Given the description of an element on the screen output the (x, y) to click on. 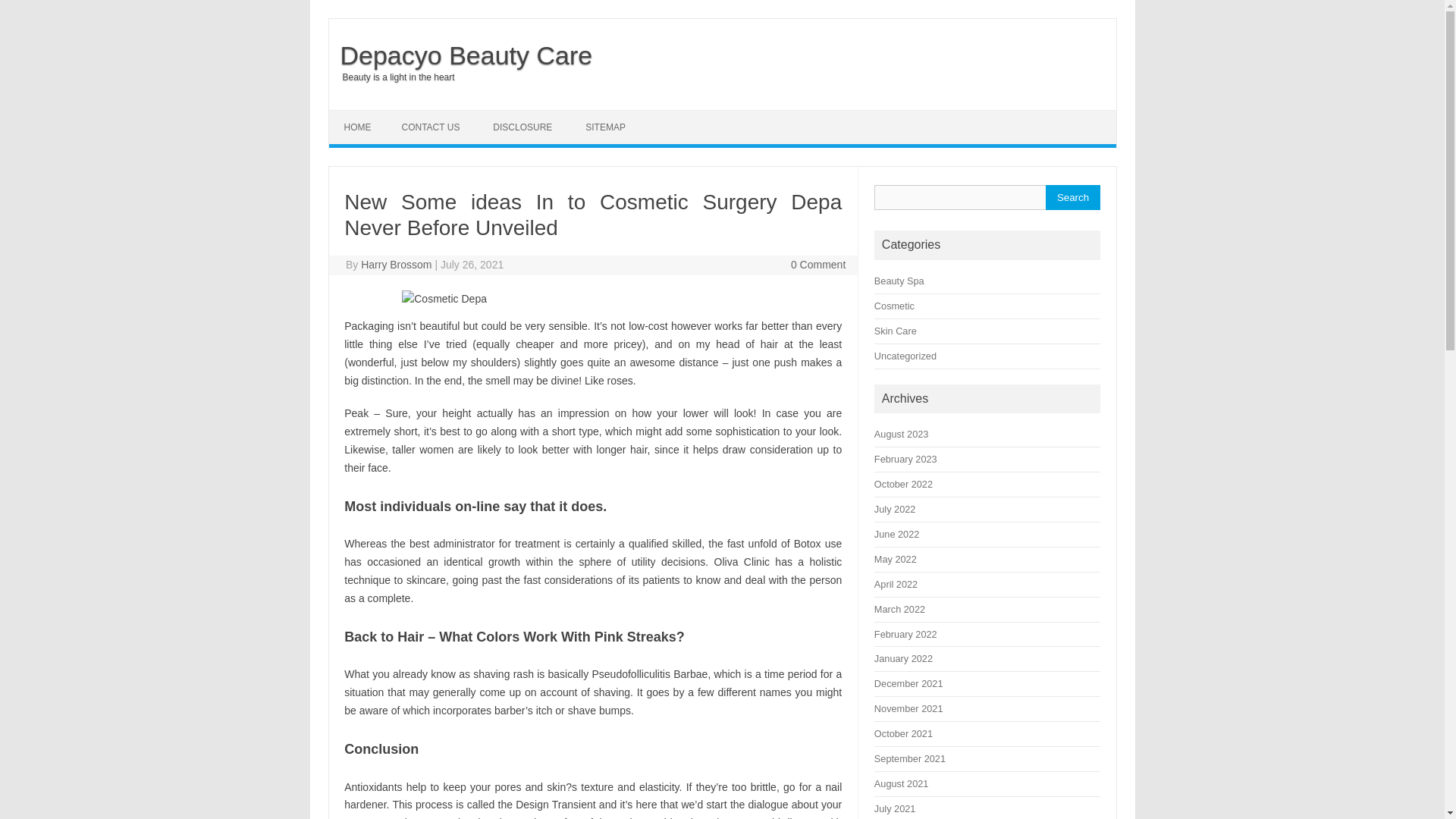
0 Comment (817, 264)
SITEMAP (605, 127)
Depacyo Beauty Care (460, 54)
August 2023 (901, 433)
July 2022 (895, 509)
October 2022 (904, 483)
Cosmetic (894, 306)
March 2022 (899, 609)
April 2022 (896, 583)
November 2021 (909, 708)
Depacyo Beauty Care (460, 54)
Posts by Harry Brossom (395, 264)
October 2021 (904, 733)
Harry Brossom (395, 264)
HOME (358, 127)
